Given the description of an element on the screen output the (x, y) to click on. 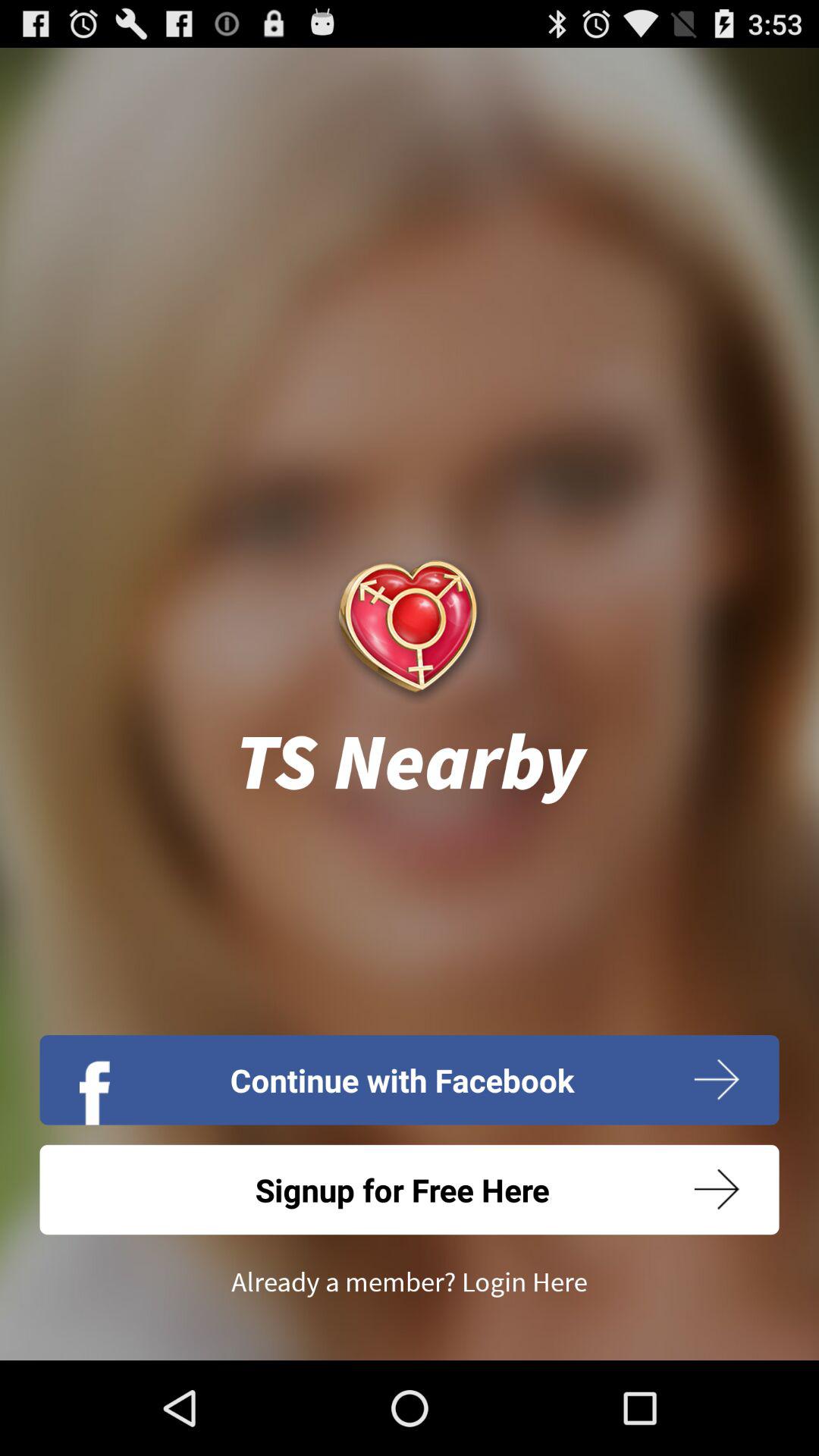
choose already a member (409, 1282)
